Given the description of an element on the screen output the (x, y) to click on. 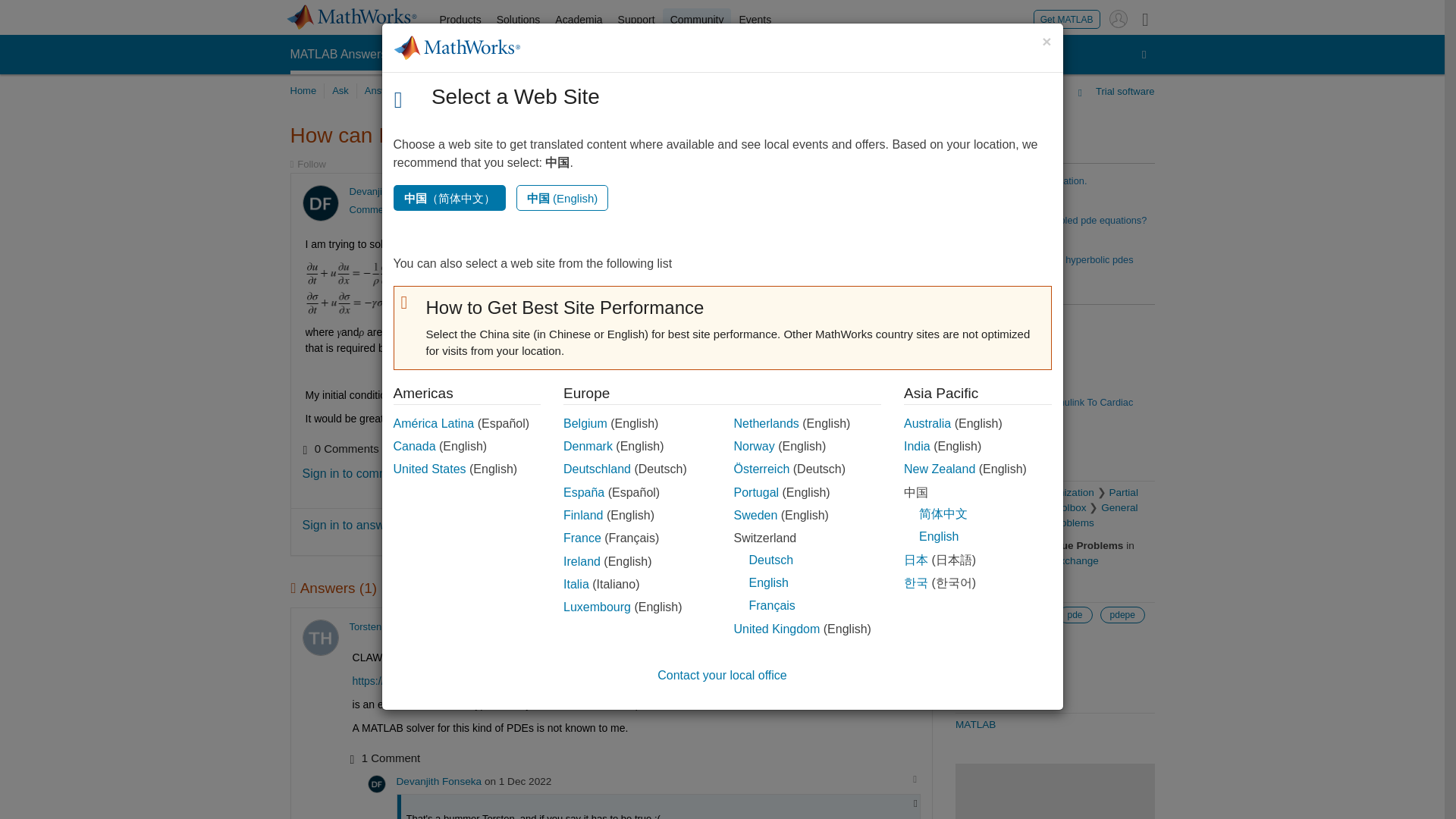
Direct link to this question (906, 192)
Support (636, 19)
Academia (578, 19)
Solutions (518, 19)
Sign in to vote for questions and answers (855, 193)
Get MATLAB (1066, 18)
Products (460, 19)
Sign In to Your MathWorks Account (1117, 18)
Direct link to this answer (906, 626)
Events (754, 19)
